Given the description of an element on the screen output the (x, y) to click on. 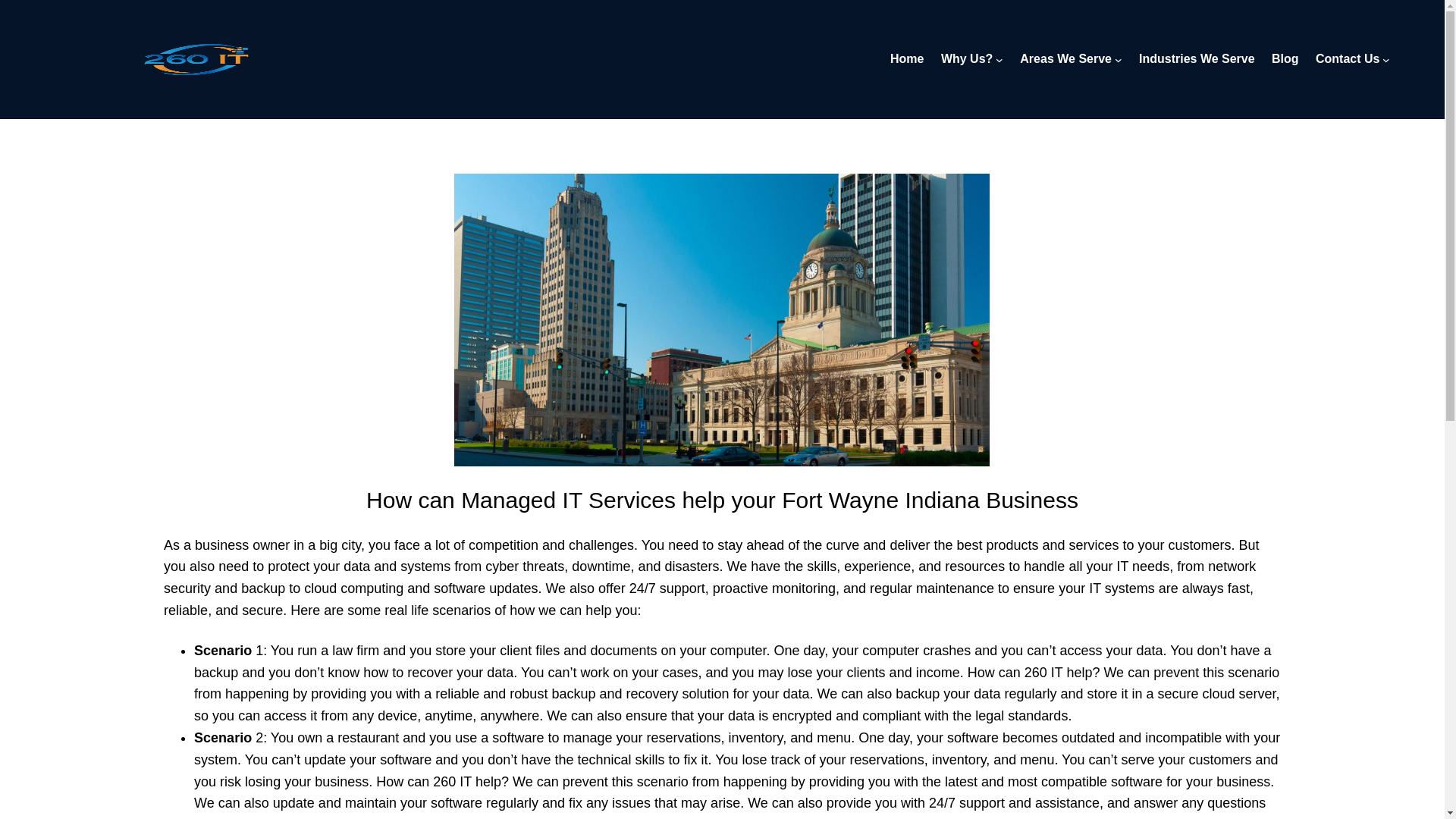
Home (906, 58)
Blog (1284, 58)
Contact Us (1347, 58)
Industries We Serve (1196, 58)
Areas We Serve (1066, 58)
Why Us? (966, 58)
